Given the description of an element on the screen output the (x, y) to click on. 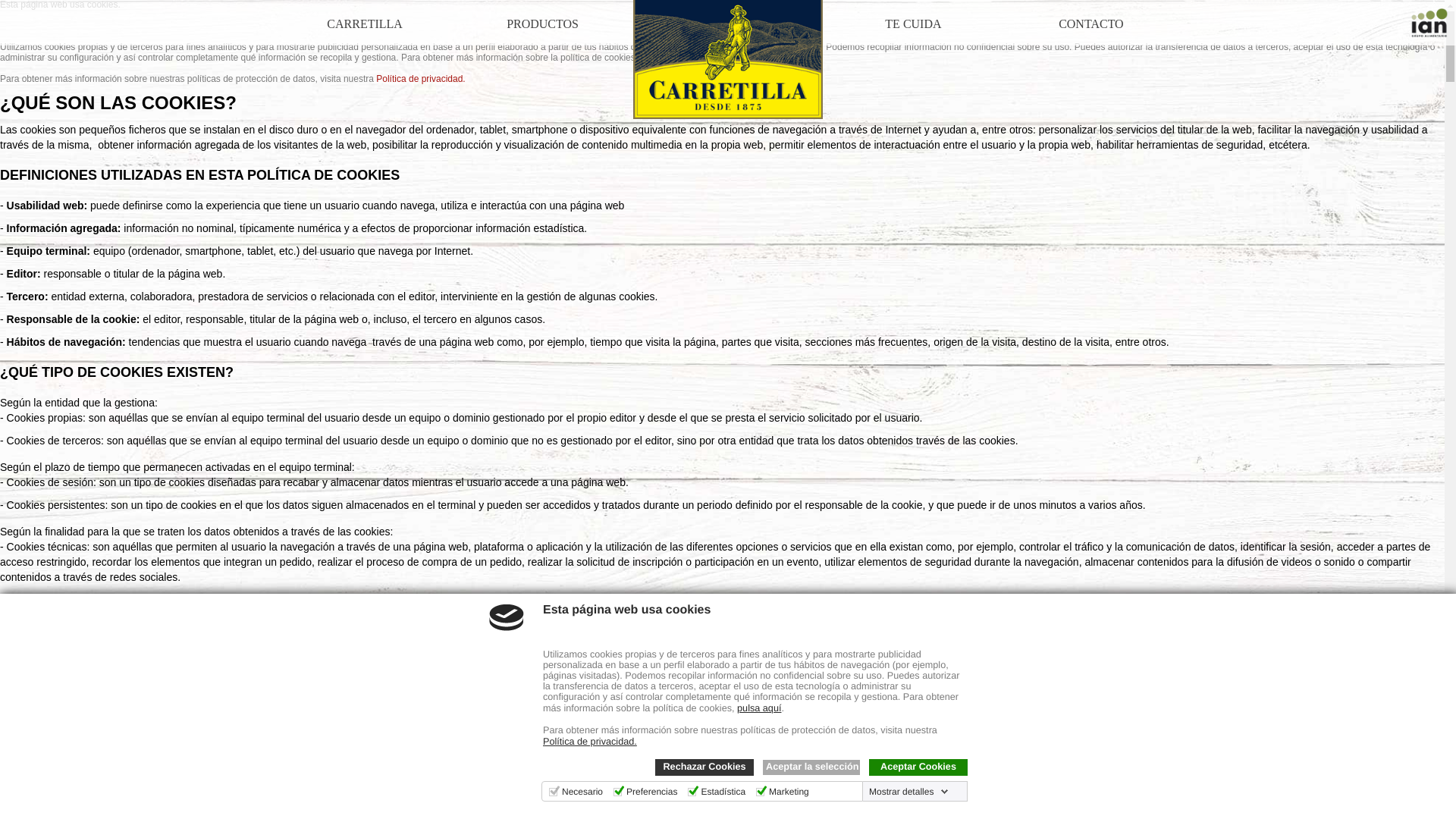
Cambiar tu consentimiento (72, 790)
Cookiebot (298, 814)
Cookiebot (298, 814)
